Given the description of an element on the screen output the (x, y) to click on. 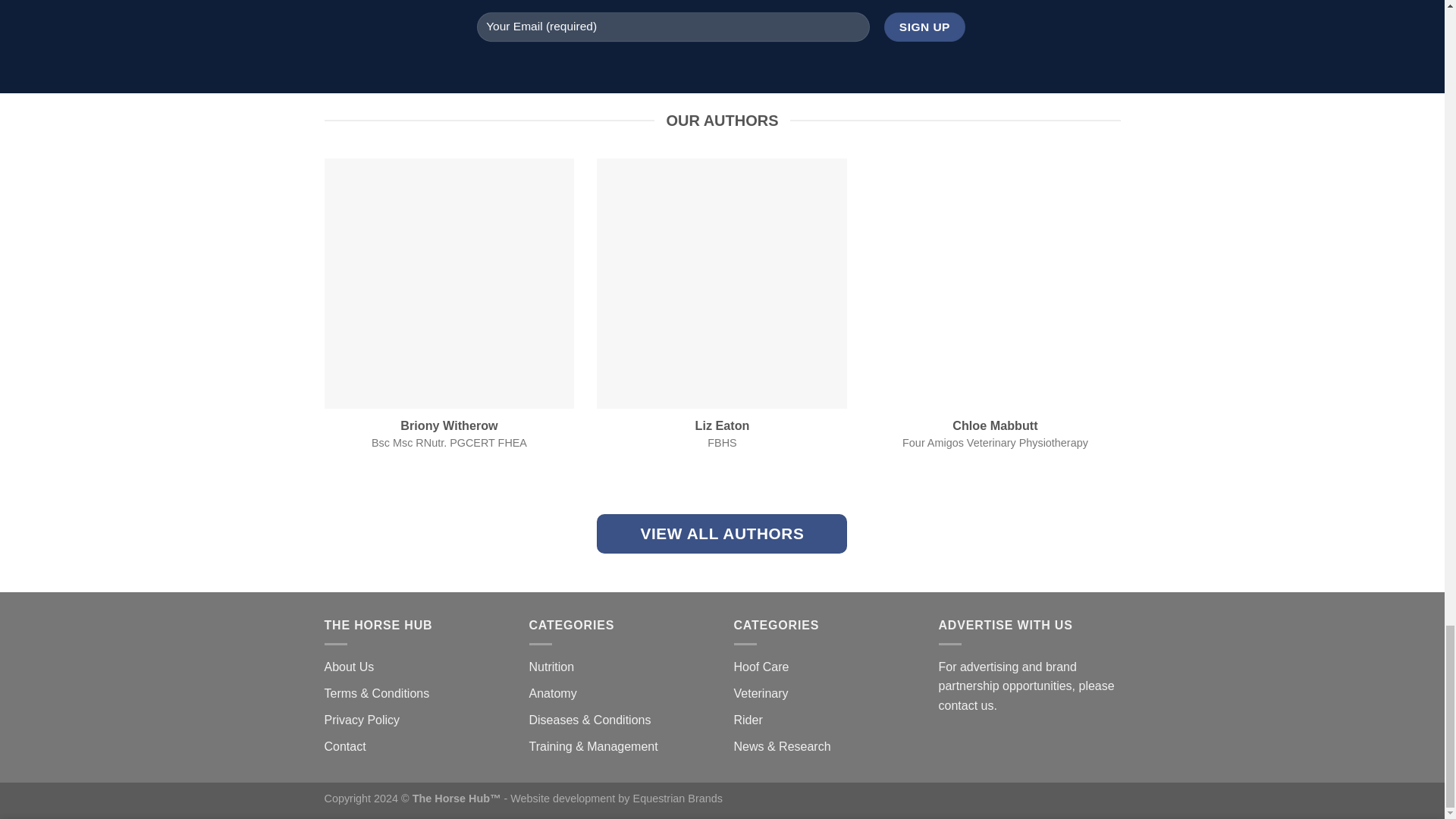
Sign Up (923, 26)
